Given the description of an element on the screen output the (x, y) to click on. 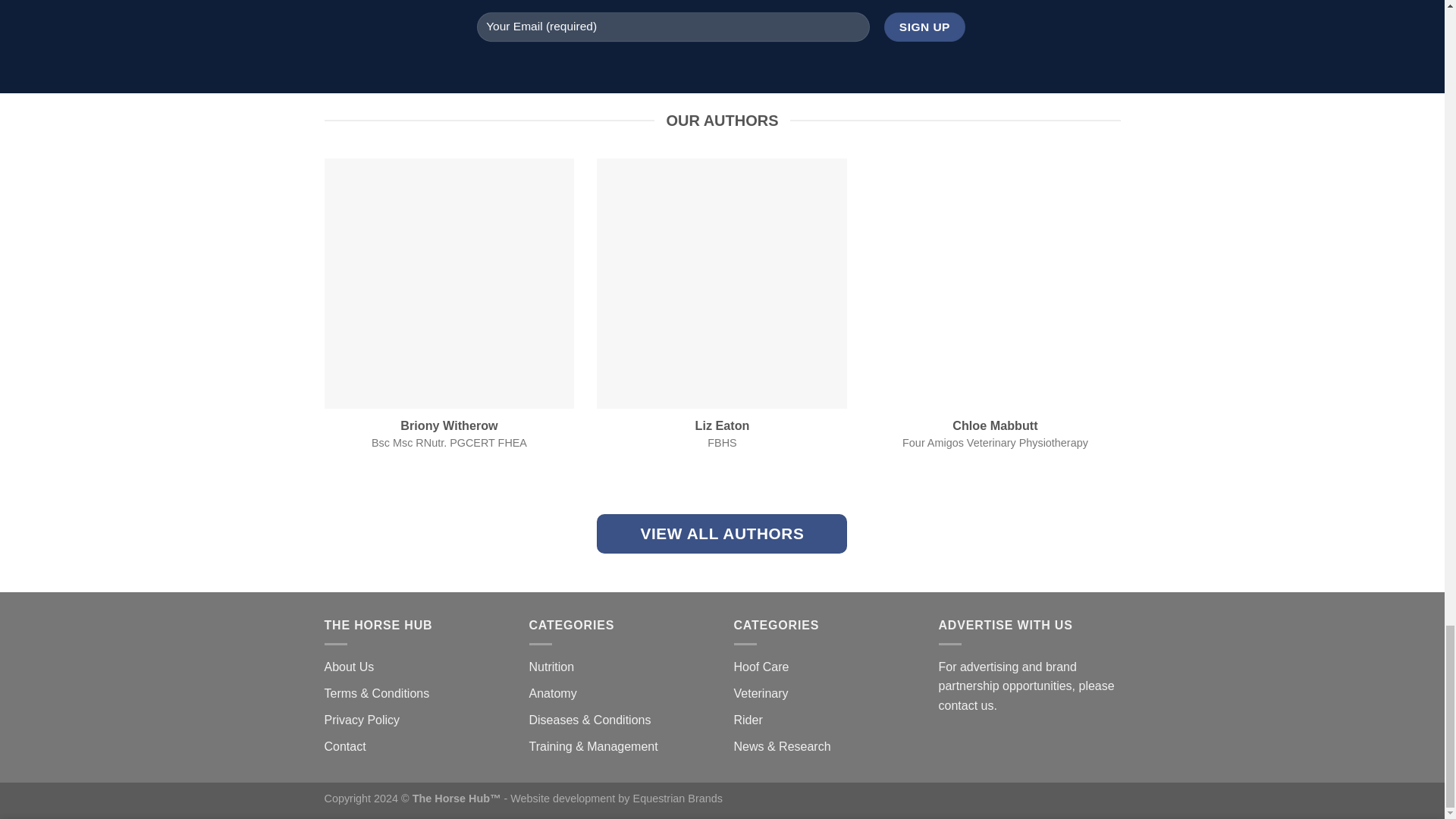
Sign Up (923, 26)
